Given the description of an element on the screen output the (x, y) to click on. 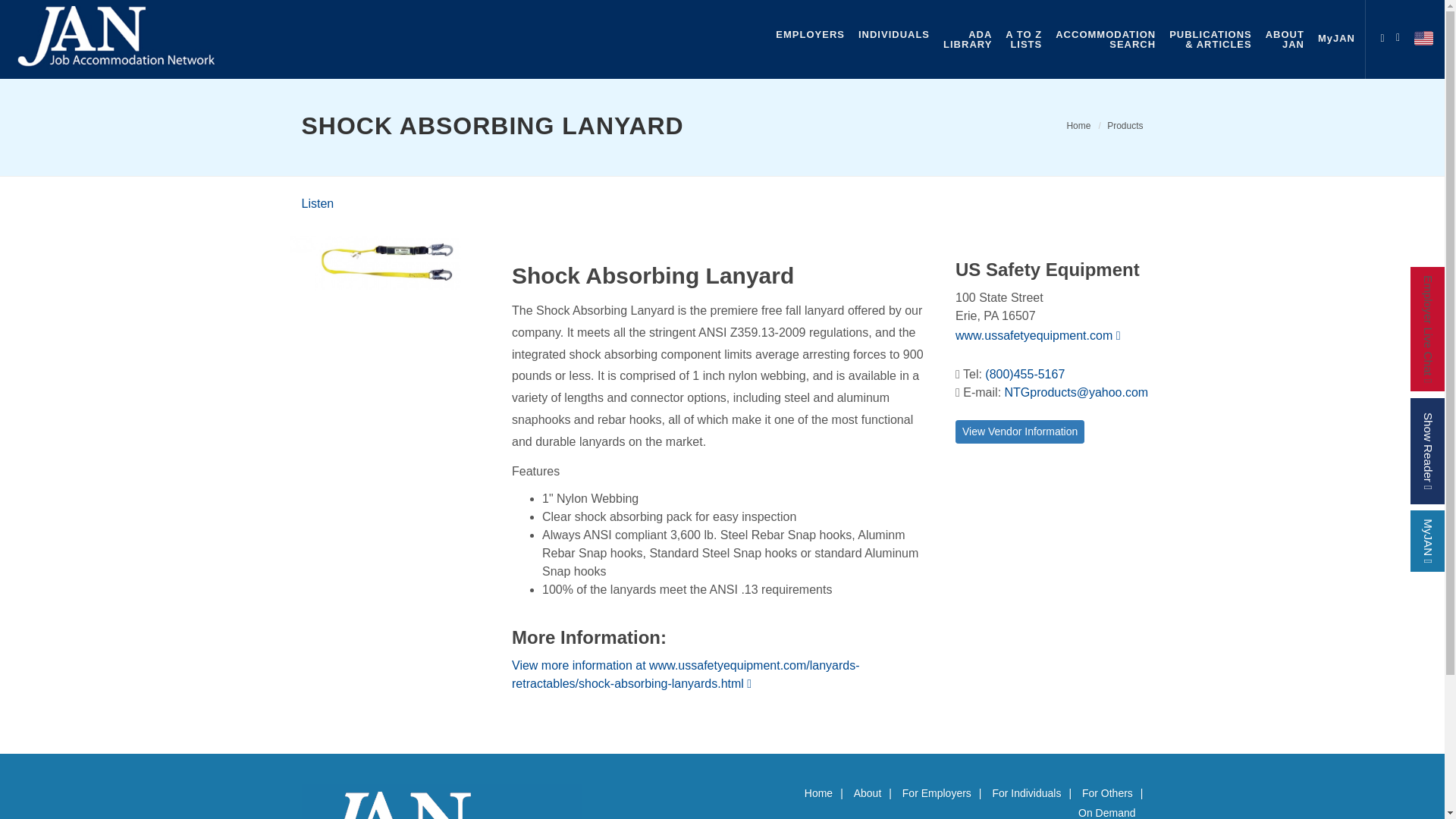
Home (1077, 125)
www.ussafetyequipment.com (1038, 335)
Products (1124, 125)
Open Search (1401, 35)
INDIVIDUALS (893, 34)
Listen (1105, 39)
Listen to this page using ReadSpeaker webReader (317, 203)
Open Menu (317, 203)
EMPLOYERS (1382, 35)
